Given the description of an element on the screen output the (x, y) to click on. 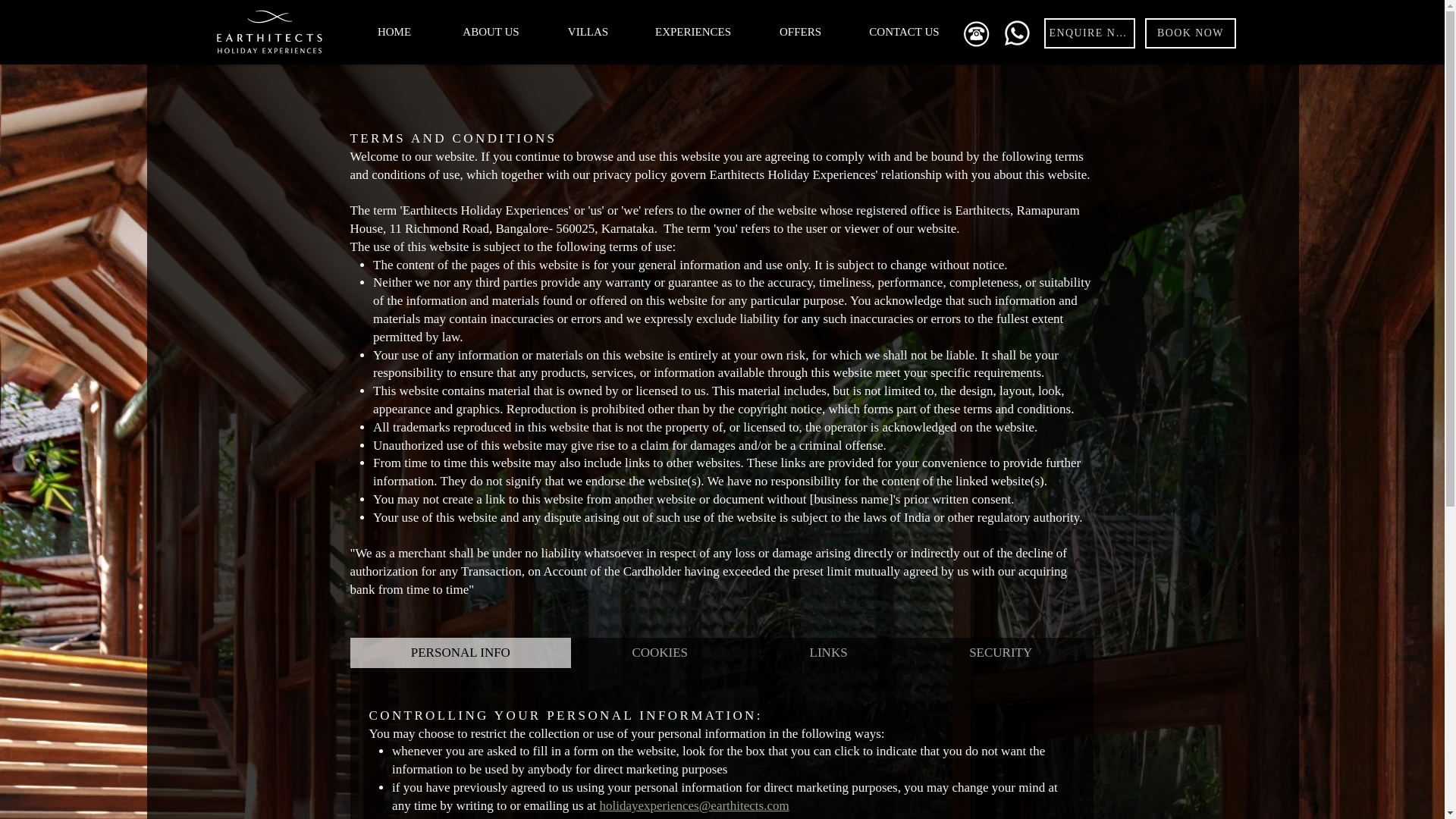
VILLAS (587, 31)
EXPERIENCES (692, 31)
CONTACT US (902, 31)
ENQUIRE NOW (1088, 33)
WhatsApp Us (1015, 33)
BOOK NOW (1190, 33)
Call Us (975, 33)
ABOUT US (491, 31)
HOME (394, 31)
OFFERS (799, 31)
